Given the description of an element on the screen output the (x, y) to click on. 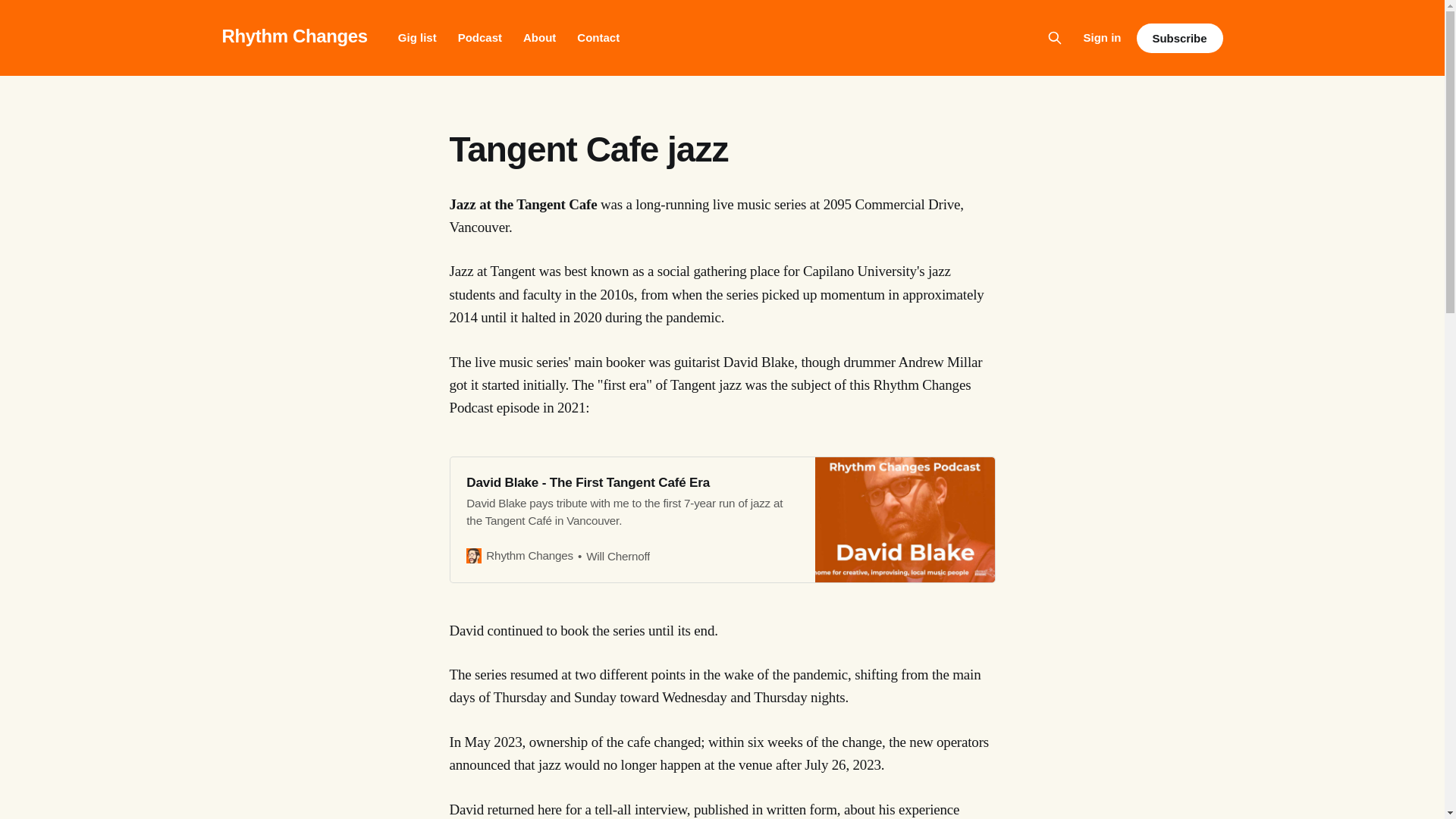
Contact (598, 37)
Podcast (480, 37)
Sign in (1102, 37)
Subscribe (1179, 37)
Gig list (416, 37)
Rhythm Changes (293, 35)
About (539, 37)
